Given the description of an element on the screen output the (x, y) to click on. 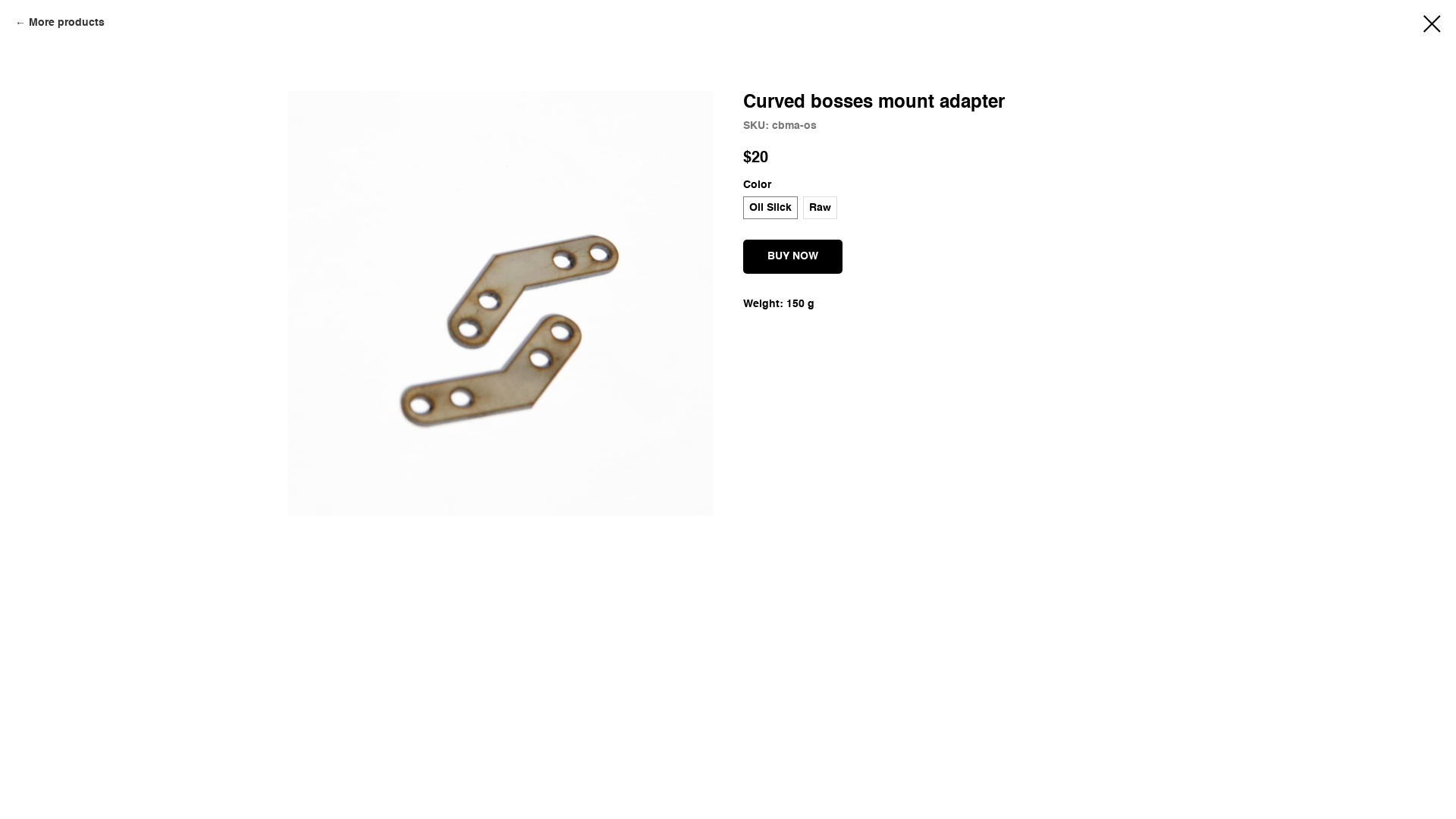
BUY NOW Element type: text (792, 256)
More products Element type: text (59, 23)
